Given the description of an element on the screen output the (x, y) to click on. 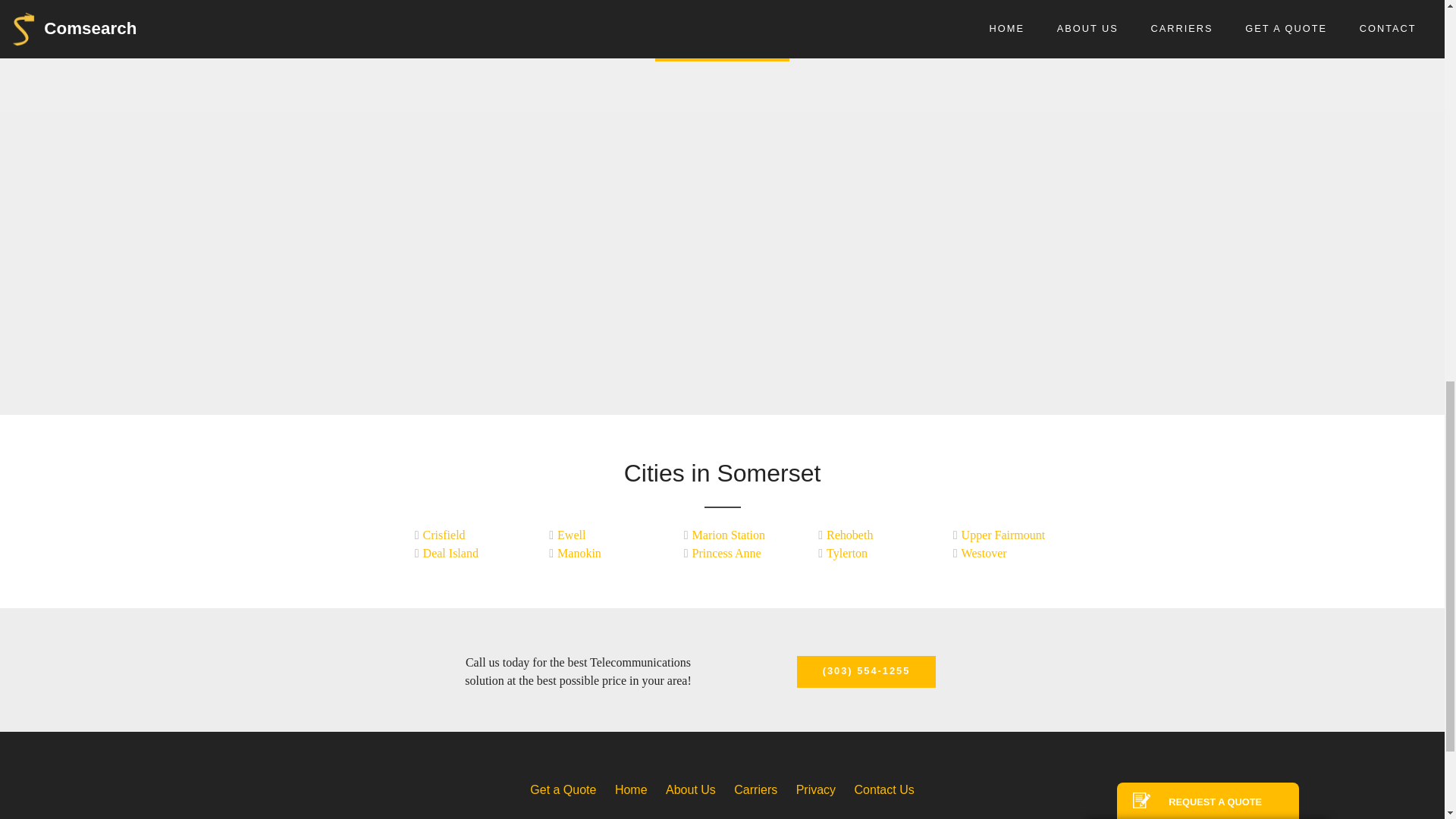
GET A QUOTE (722, 44)
 Send  (1207, 298)
About Us (690, 789)
Rehobeth (864, 535)
Crisfield (460, 535)
 Send  (1207, 298)
Home (630, 789)
Tylerton (864, 553)
Privacy (815, 789)
Deal Island (460, 553)
Manokin (595, 553)
Get a Quote (562, 789)
Marion Station (730, 535)
Contact Us (884, 789)
Carriers (755, 789)
